Given the description of an element on the screen output the (x, y) to click on. 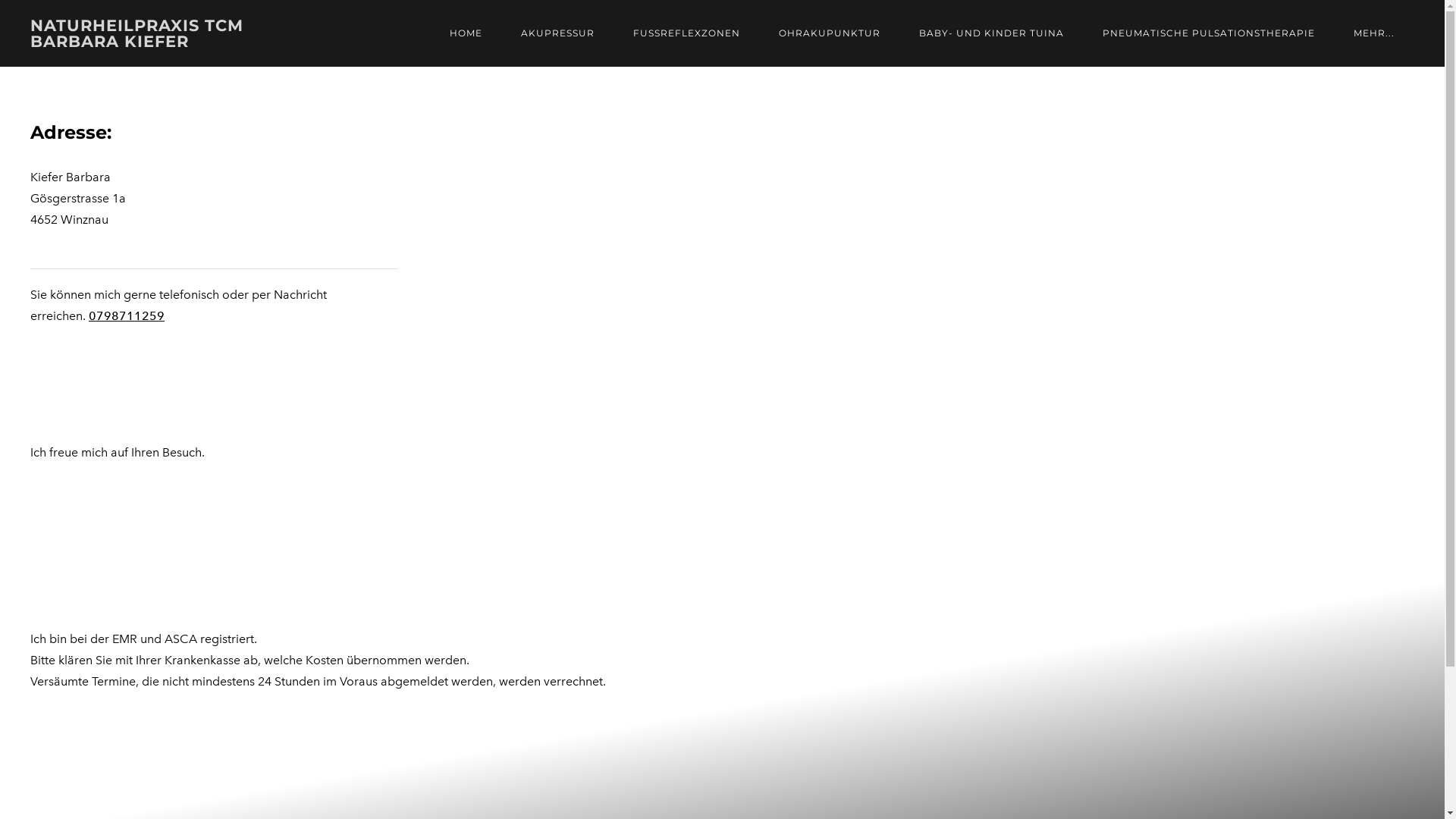
PNEUMATISCHE PULSATIONSTHERAPIE Element type: text (1208, 32)
FUSSREFLEXZONEN Element type: text (686, 32)
AKUPRESSUR Element type: text (557, 32)
0798711259 Element type: text (126, 315)
NATURHEILPRAXIS TCM BARBARA KIEFER Element type: text (191, 33)
BABY- UND KINDER TUINA Element type: text (991, 32)
MEHR... Element type: text (1373, 32)
OHRAKUPUNKTUR Element type: text (829, 32)
HOME Element type: text (465, 32)
